Given the description of an element on the screen output the (x, y) to click on. 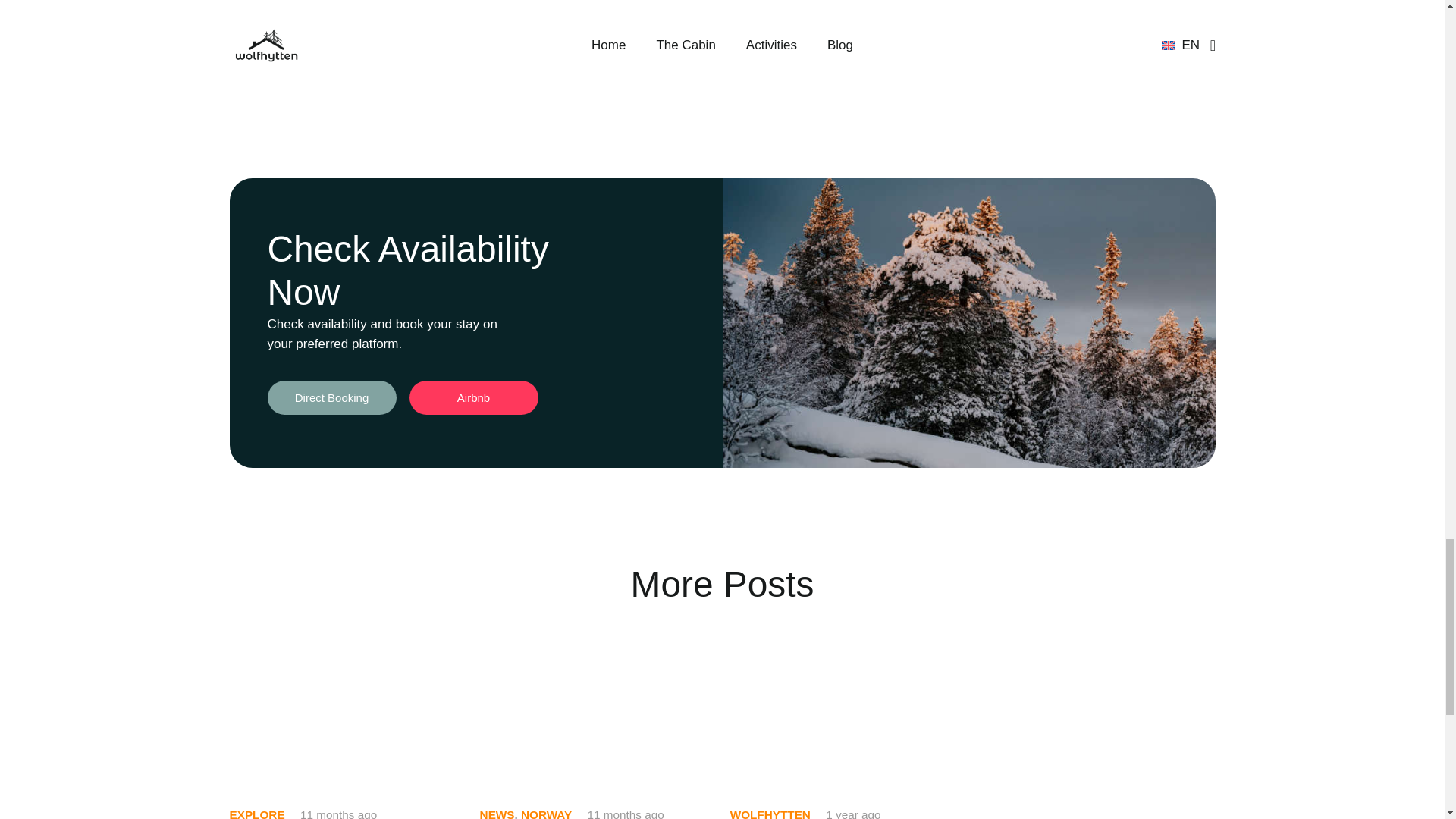
NORWAY (546, 813)
Direct Booking (331, 397)
Airbnb (473, 397)
NEWS (497, 813)
EXPLORE (255, 813)
WOLFHYTTEN (770, 813)
